Given the description of an element on the screen output the (x, y) to click on. 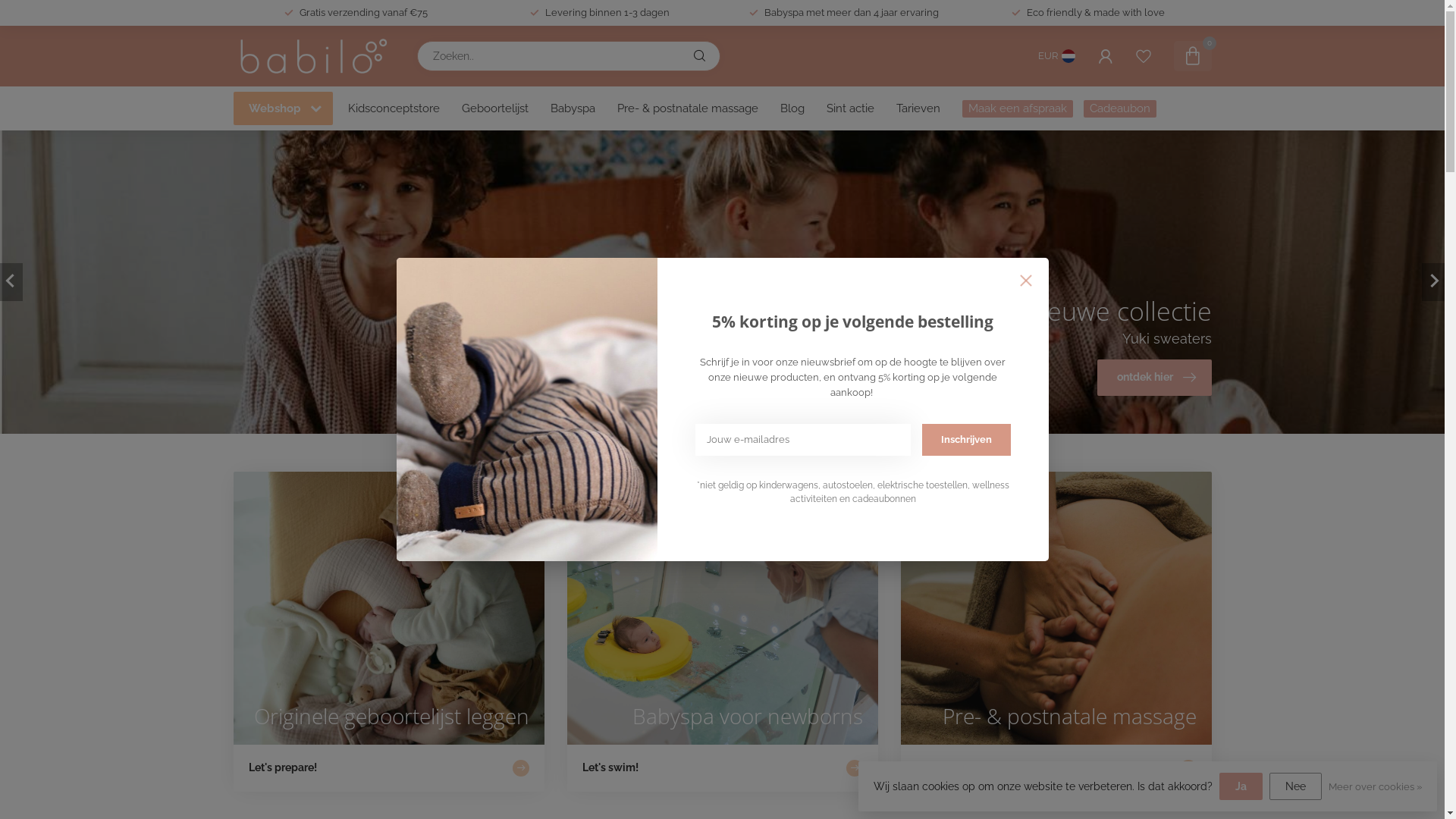
Maak een afspraak Element type: text (1016, 108)
Babyspa voor newborns
Let's swim! Element type: text (722, 631)
Nee Element type: text (1295, 786)
Pre- & postnatale massage
Let's relax! Element type: text (1055, 631)
Verlanglijst Element type: hover (1143, 55)
Pre- & postnatale massage Element type: text (687, 108)
Sint actie Element type: text (850, 108)
Ja Element type: text (1240, 786)
1 Element type: text (1060, 244)
Babyspa Element type: text (572, 108)
Tarieven Element type: text (918, 108)
Originele geboortelijst leggen
Let's prepare! Element type: text (388, 631)
Mijn account Element type: hover (1105, 55)
Kidsconceptstore Element type: text (393, 108)
Cadeaubon Element type: text (1118, 108)
0 Element type: text (1192, 55)
Geboortelijst Element type: text (494, 108)
Blog Element type: text (791, 108)
Inschrijven Element type: text (966, 439)
